Given the description of an element on the screen output the (x, y) to click on. 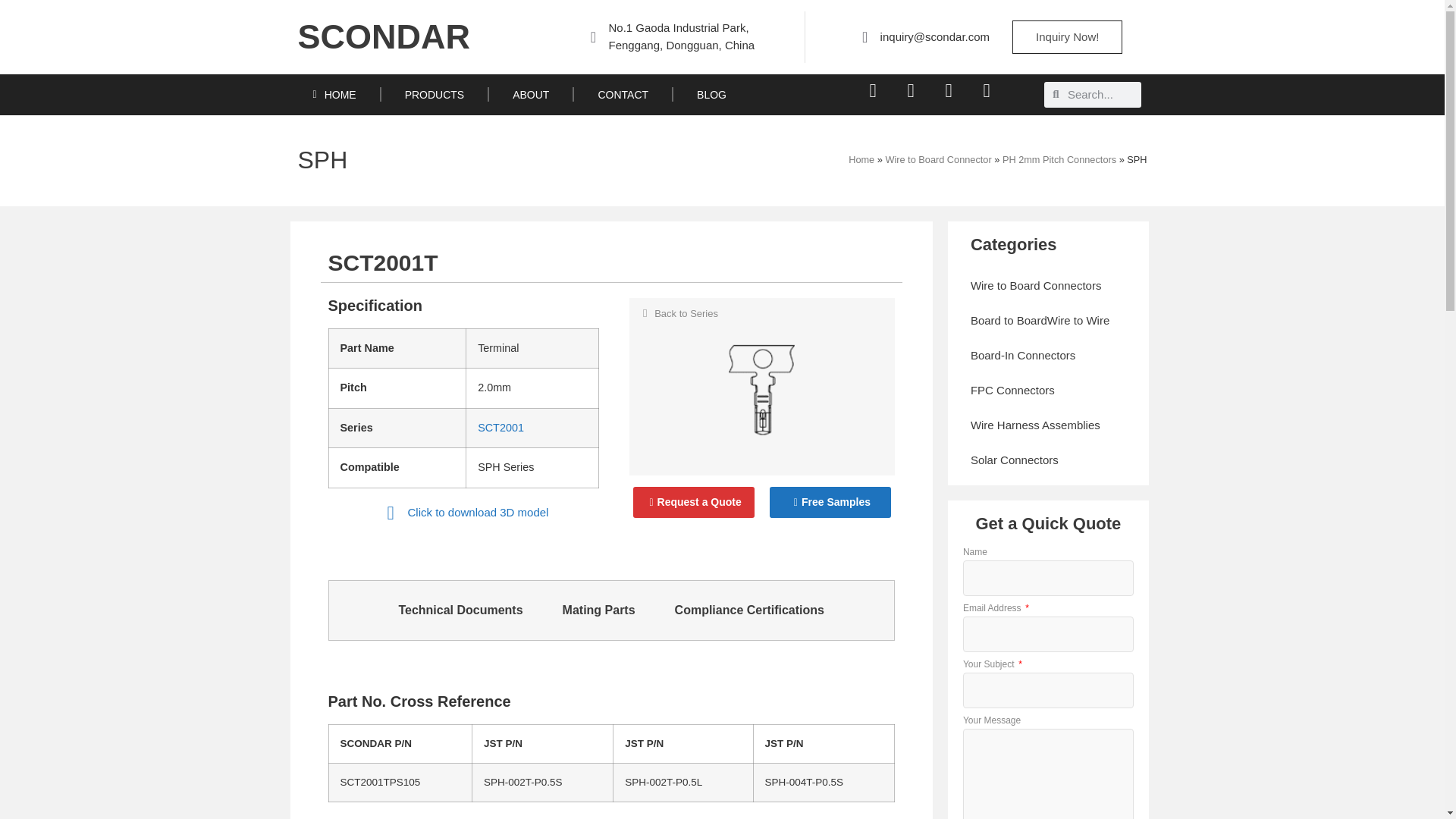
HOME (333, 94)
SCONDAR (383, 37)
Inquiry Now! (1066, 37)
PRODUCTS (434, 94)
